Given the description of an element on the screen output the (x, y) to click on. 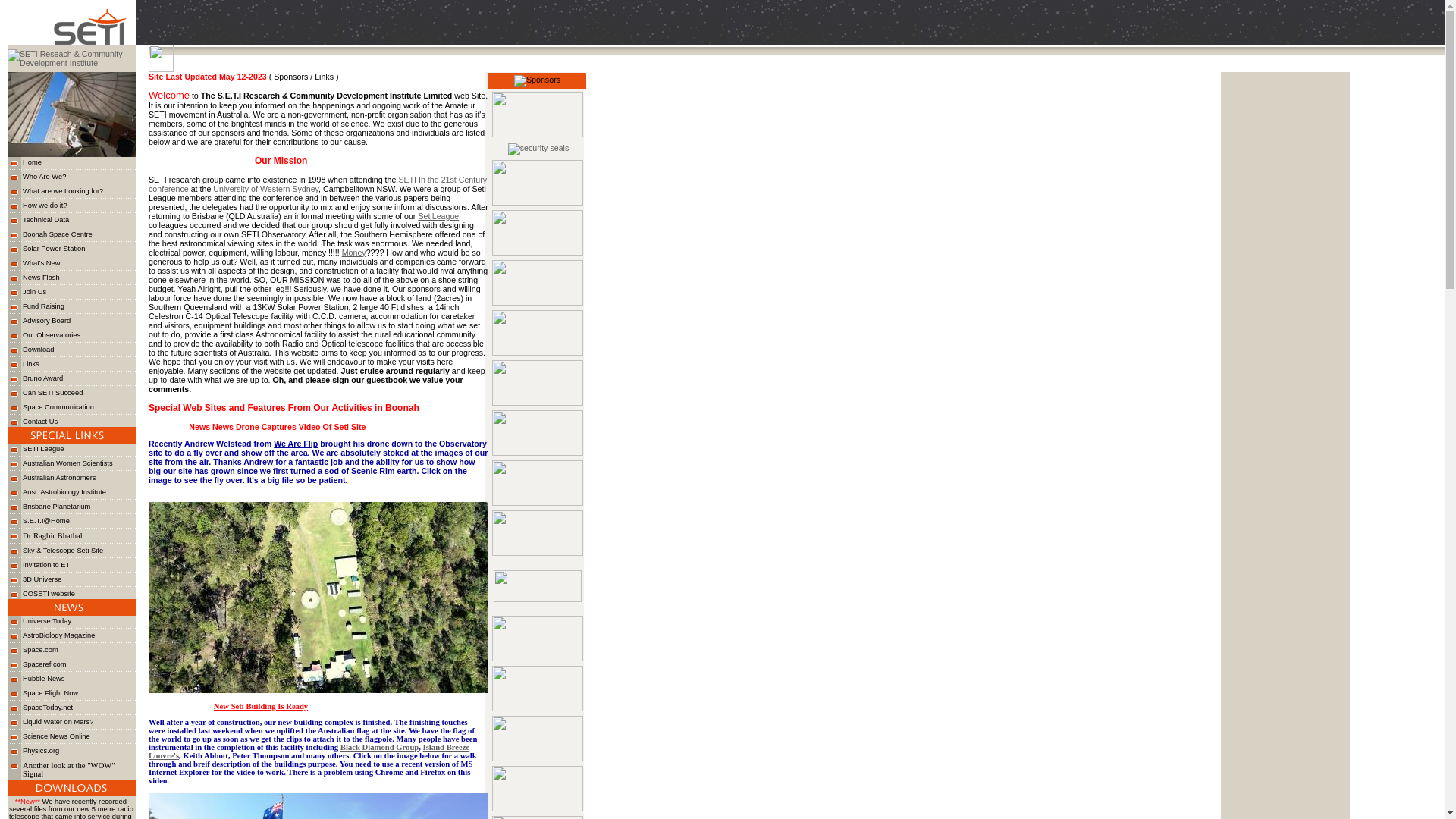
Hubble News Element type: text (43, 678)
News Flash Element type: text (40, 277)
We Are Flip Element type: text (295, 443)
Australian Women Scientists Element type: text (67, 463)
Advisory Board Element type: text (46, 320)
Island Breeze Louvre's Element type: text (308, 751)
Universe Today Element type: text (46, 620)
Science News Online Element type: text (56, 736)
University of Western Sydney Element type: text (265, 188)
Black Diamond Group Element type: text (379, 747)
What's New Element type: text (40, 262)
Home Element type: text (31, 162)
SETI In the 21st Century conference Element type: text (317, 184)
Fund Raising Element type: text (43, 306)
Aust. Astrobiology Institute Element type: text (64, 491)
SETI League Element type: text (42, 448)
AstroBiology Magazine Element type: text (58, 635)
Join Us Element type: text (34, 291)
Links Element type: text (30, 363)
What are we Looking for? Element type: text (62, 190)
Space Flight Now Element type: text (50, 692)
Contact Us Element type: text (39, 421)
Download Element type: text (38, 349)
How we do it? Element type: text (44, 205)
3D Universe Element type: text (41, 579)
Bruno Award Element type: text (42, 378)
Dr Ragbir Bhathal Element type: text (52, 534)
Boonah Space Centre Element type: text (57, 234)
Solar Power Station Element type: text (53, 248)
SetiLeague Element type: text (437, 215)
Another look at the "WOW" Signal Element type: text (68, 769)
Liquid Water on Mars? Element type: text (58, 721)
S.E.T.I@Home Element type: text (45, 520)
Physics.org Element type: text (40, 750)
SpaceToday.net Element type: text (47, 707)
Who Are We? Element type: text (43, 176)
Invitation to ET Element type: text (45, 564)
Can SETI Succeed Element type: text (52, 392)
Technical Data Element type: text (45, 219)
Spaceref.com Element type: text (44, 664)
Space Communication Element type: text (58, 407)
Our Observatories Element type: text (51, 334)
Australian Astronomers Element type: text (58, 477)
Brisbane Planetarium Element type: text (56, 506)
Space.com Element type: text (40, 649)
Money Element type: text (354, 252)
Sky & Telescope Seti Site Element type: text (62, 550)
COSETI website Element type: text (48, 593)
